Given the description of an element on the screen output the (x, y) to click on. 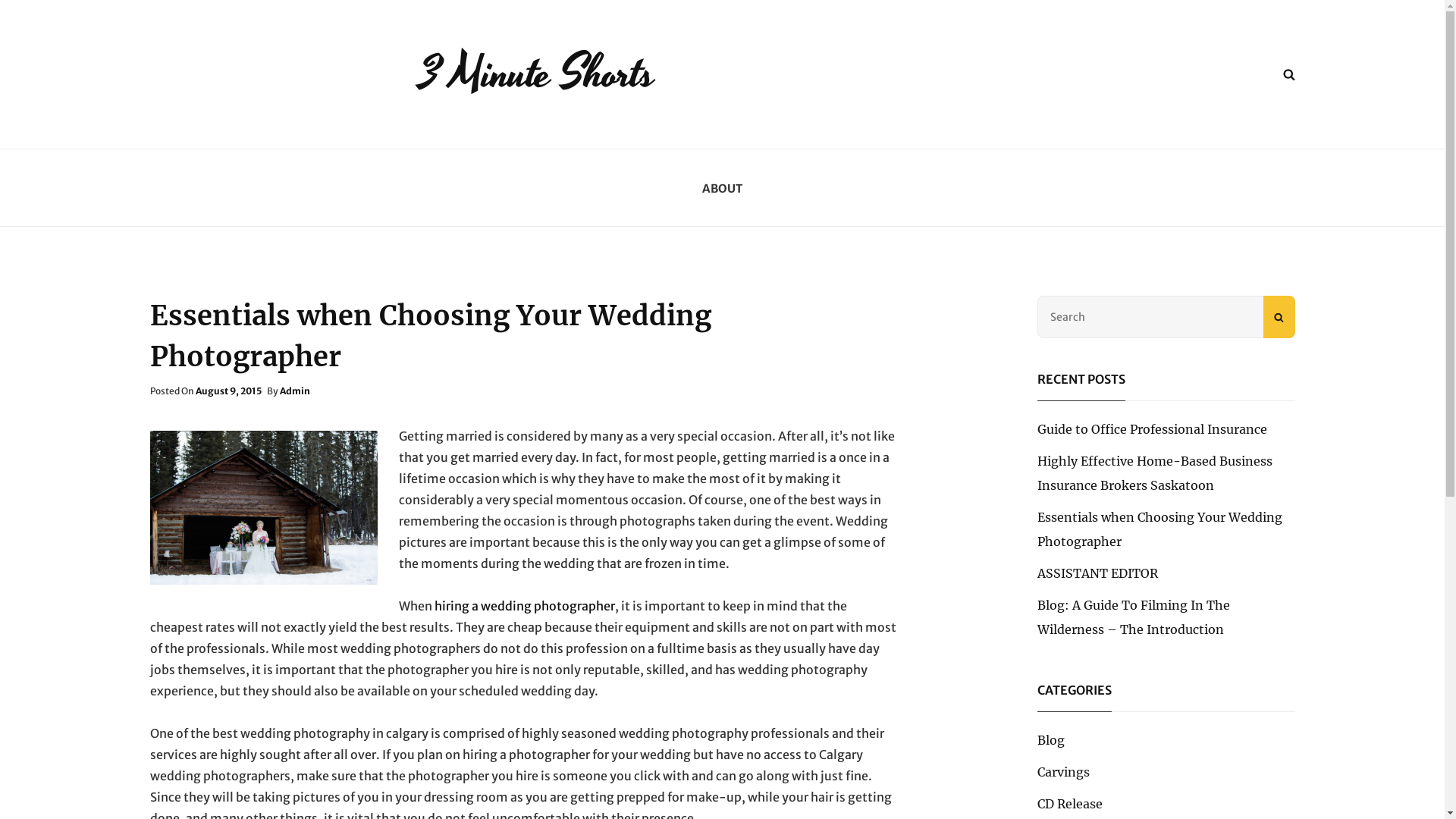
Guide to Office Professional Insurance Element type: text (1152, 428)
August 9, 2015 Element type: text (228, 390)
3 Minute Shorts Element type: text (537, 73)
ASSISTANT EDITOR Element type: text (1097, 572)
Blog Element type: text (1050, 740)
Admin Element type: text (294, 390)
Essentials when Choosing Your Wedding Photographer Element type: text (1159, 529)
SEARCH Element type: text (1287, 74)
CD Release Element type: text (1069, 803)
Carvings Element type: text (1063, 771)
SEARCH Element type: text (1279, 316)
ABOUT Element type: text (722, 187)
hiring a wedding photographer Element type: text (523, 605)
